Given the description of an element on the screen output the (x, y) to click on. 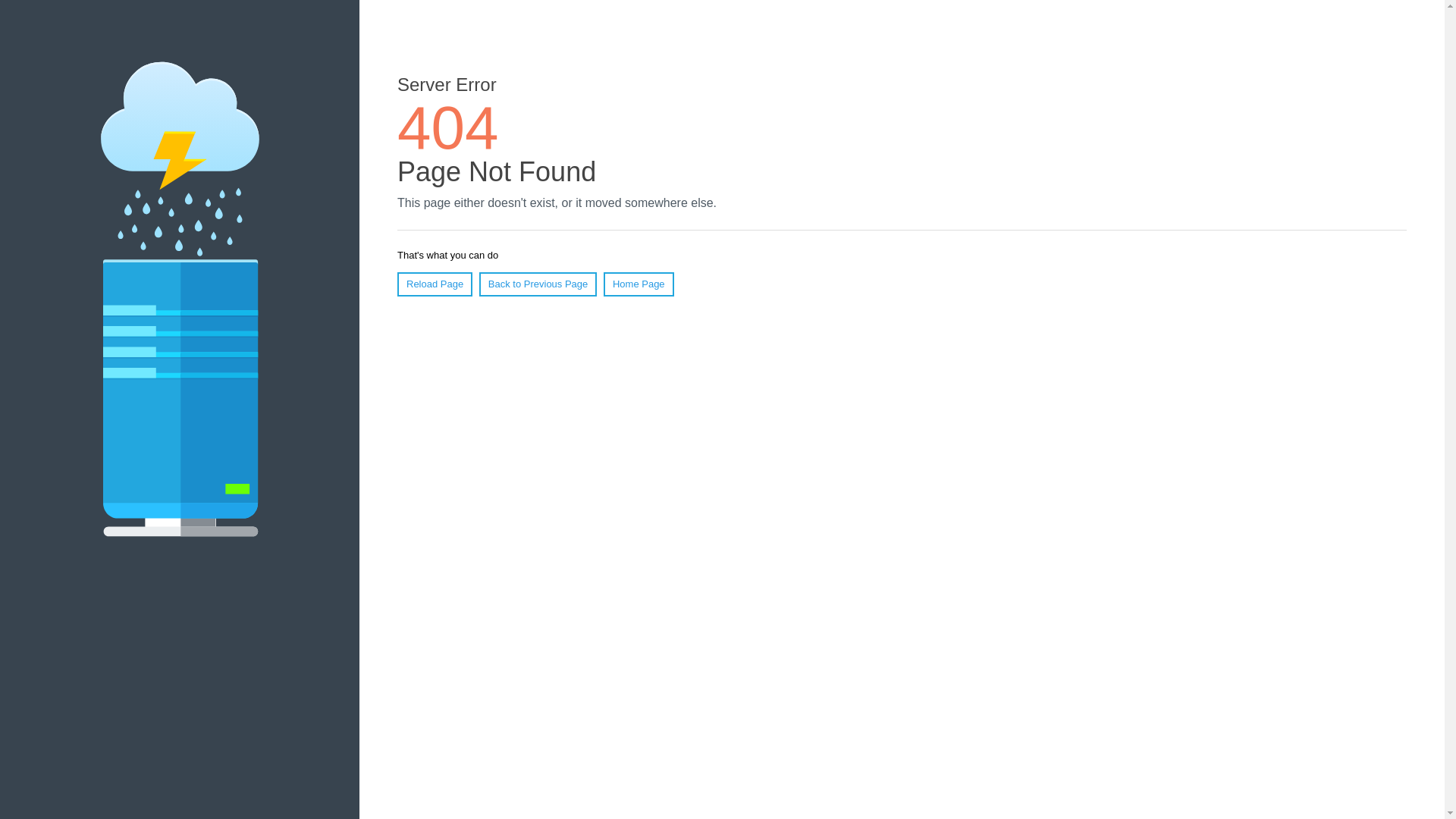
Back to Previous Page Element type: text (538, 284)
Home Page Element type: text (638, 284)
Reload Page Element type: text (434, 284)
